Given the description of an element on the screen output the (x, y) to click on. 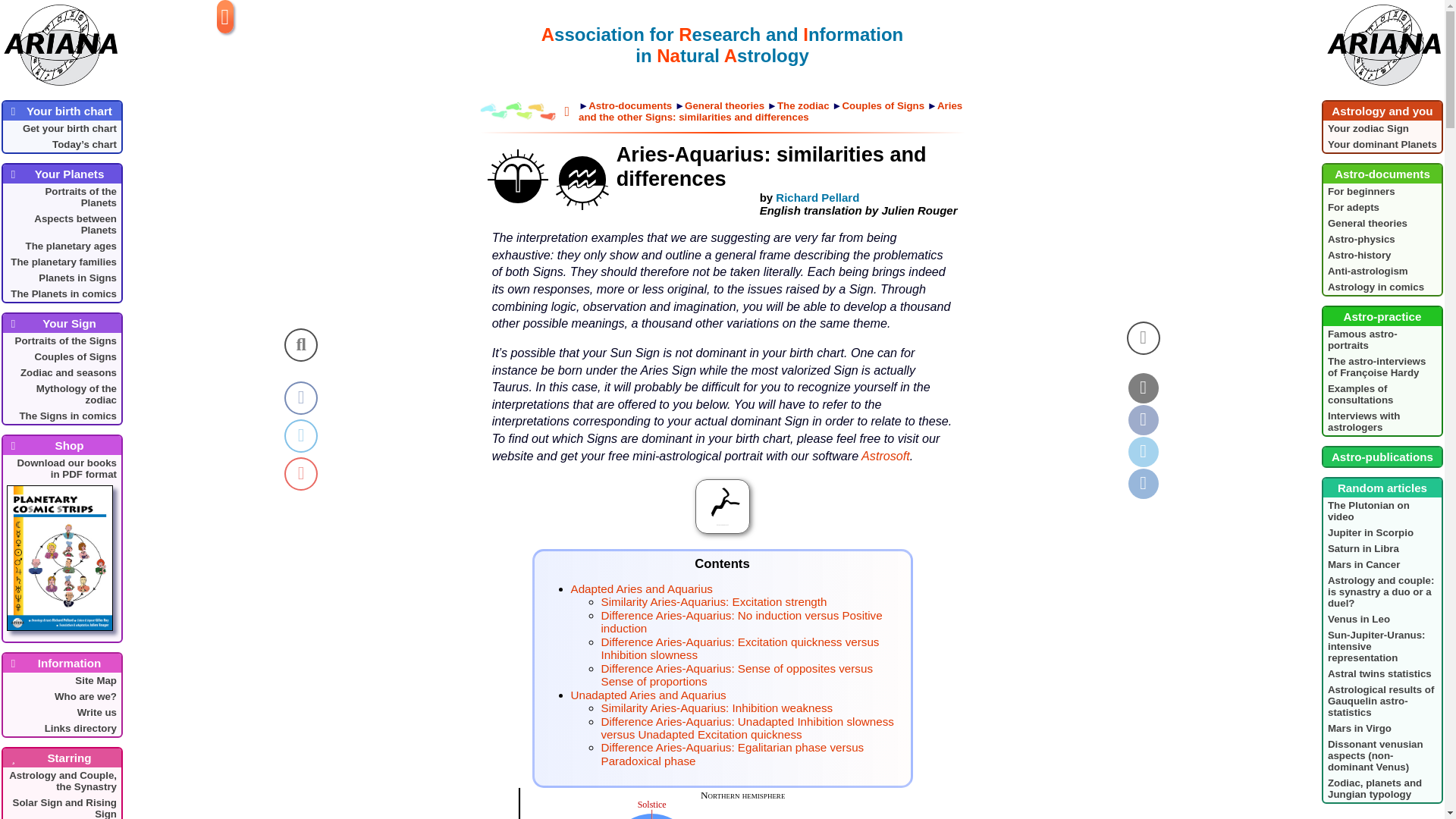
Aries and Aquarius in the photoperiodic zodiac (721, 803)
Anti-astrologism (1382, 270)
Who are we? (61, 696)
For adepts (1382, 207)
The Signs in comics (61, 415)
Interviews with astrologers (1382, 420)
Couples of Signs (61, 356)
Astrology and Couple, the Synastry (61, 780)
General theories (1382, 222)
Zodiac and seasons (61, 372)
